Given the description of an element on the screen output the (x, y) to click on. 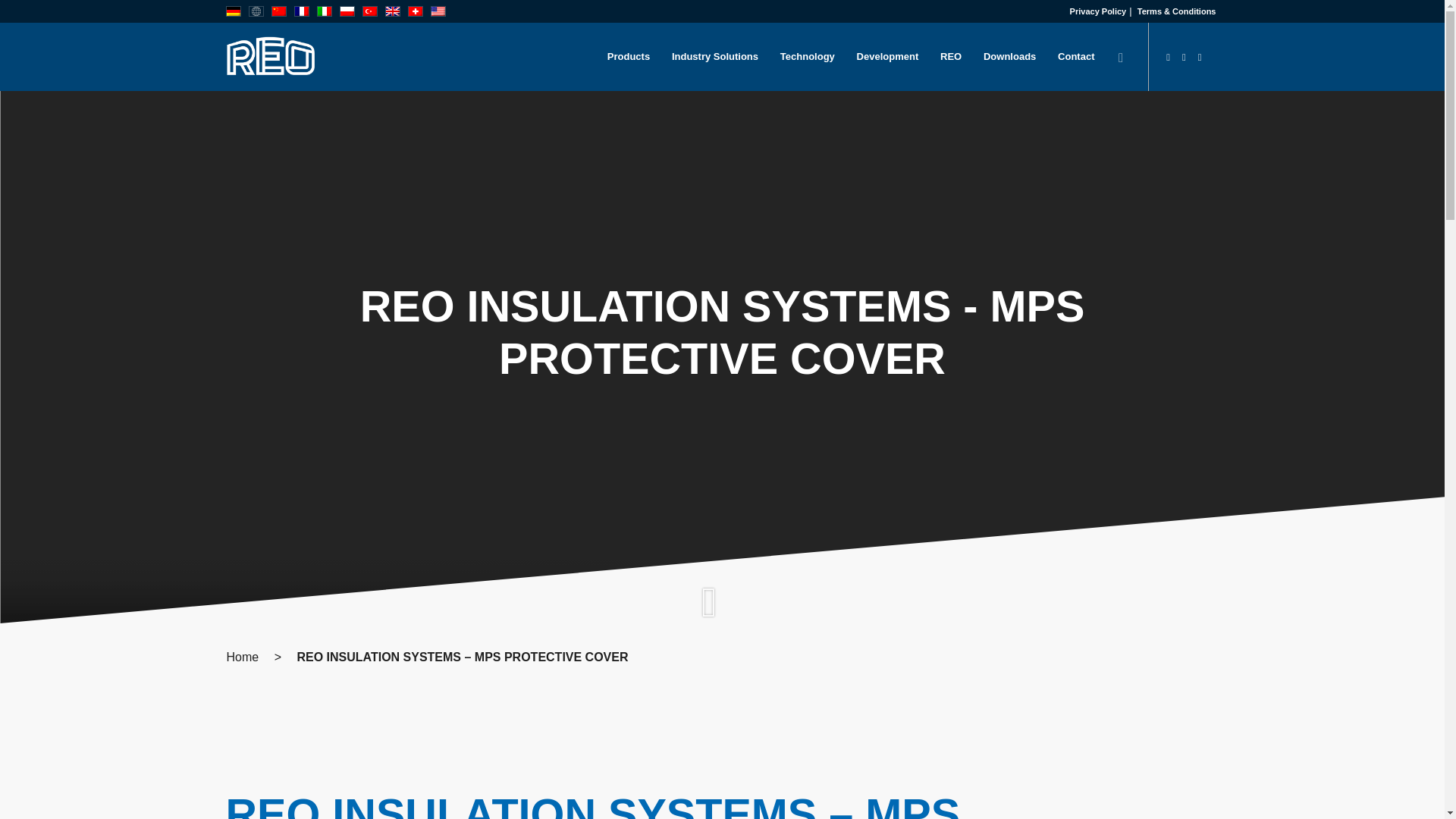
Privacy Policy (1098, 11)
Products (628, 56)
Technology (806, 56)
Industry Solutions (715, 56)
